Given the description of an element on the screen output the (x, y) to click on. 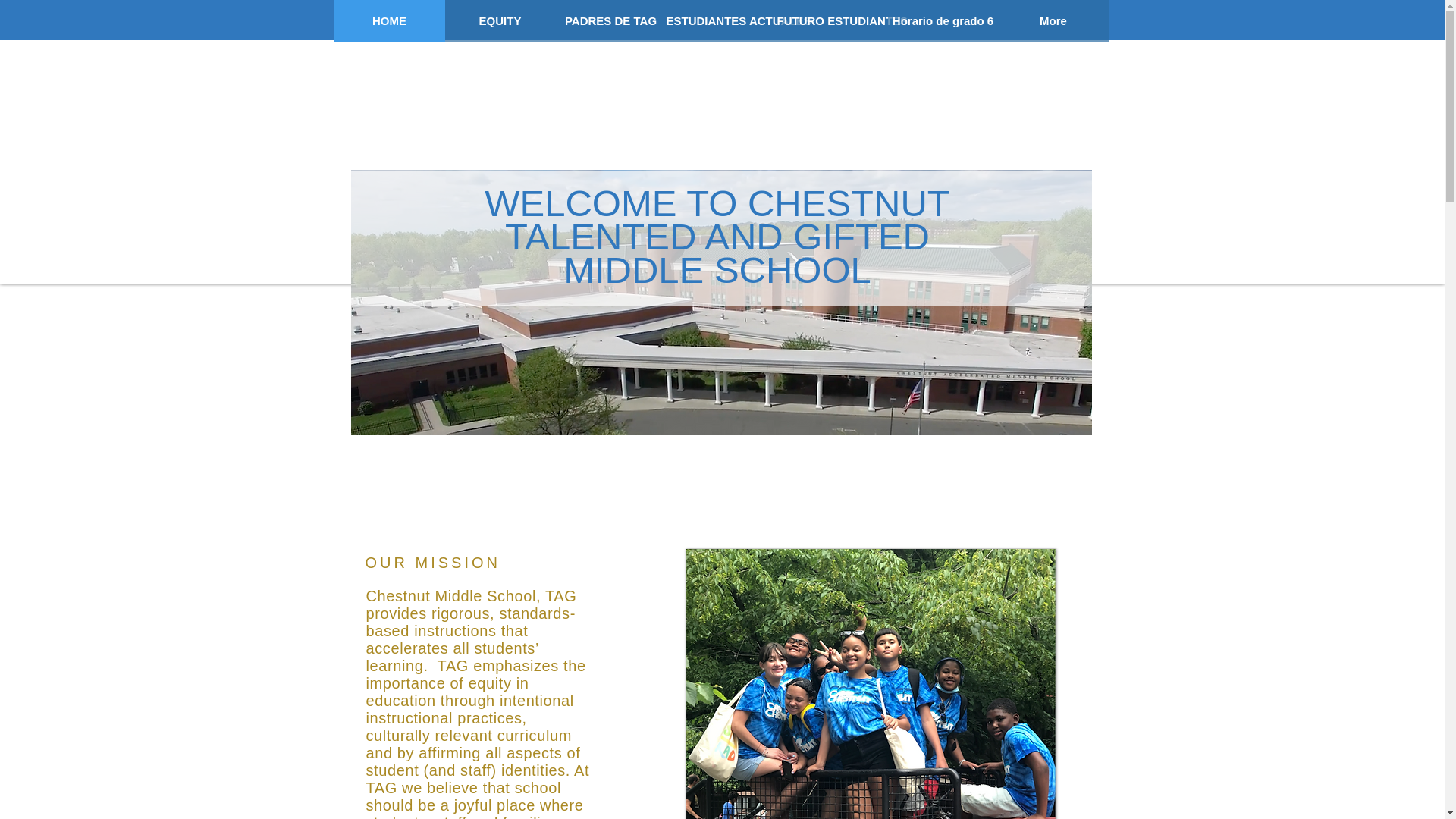
FUTURO ESTUDIANTES (831, 20)
EQUITY (499, 20)
Horario de grado 6 (941, 20)
ESTUDIANTES ACTUALES (720, 20)
HOME (388, 20)
PADRES DE TAG (609, 20)
